Given the description of an element on the screen output the (x, y) to click on. 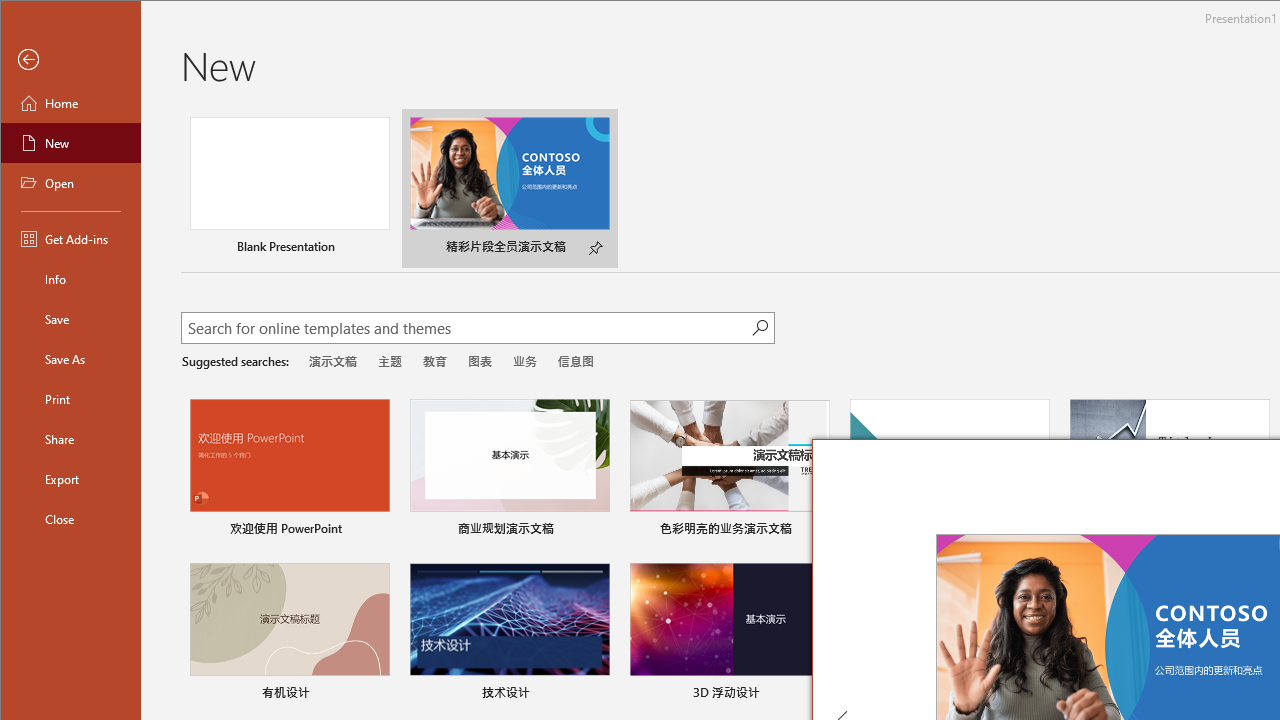
Open (70, 182)
Print (70, 398)
Export (70, 478)
New (70, 142)
Search for online templates and themes (467, 330)
